Given the description of an element on the screen output the (x, y) to click on. 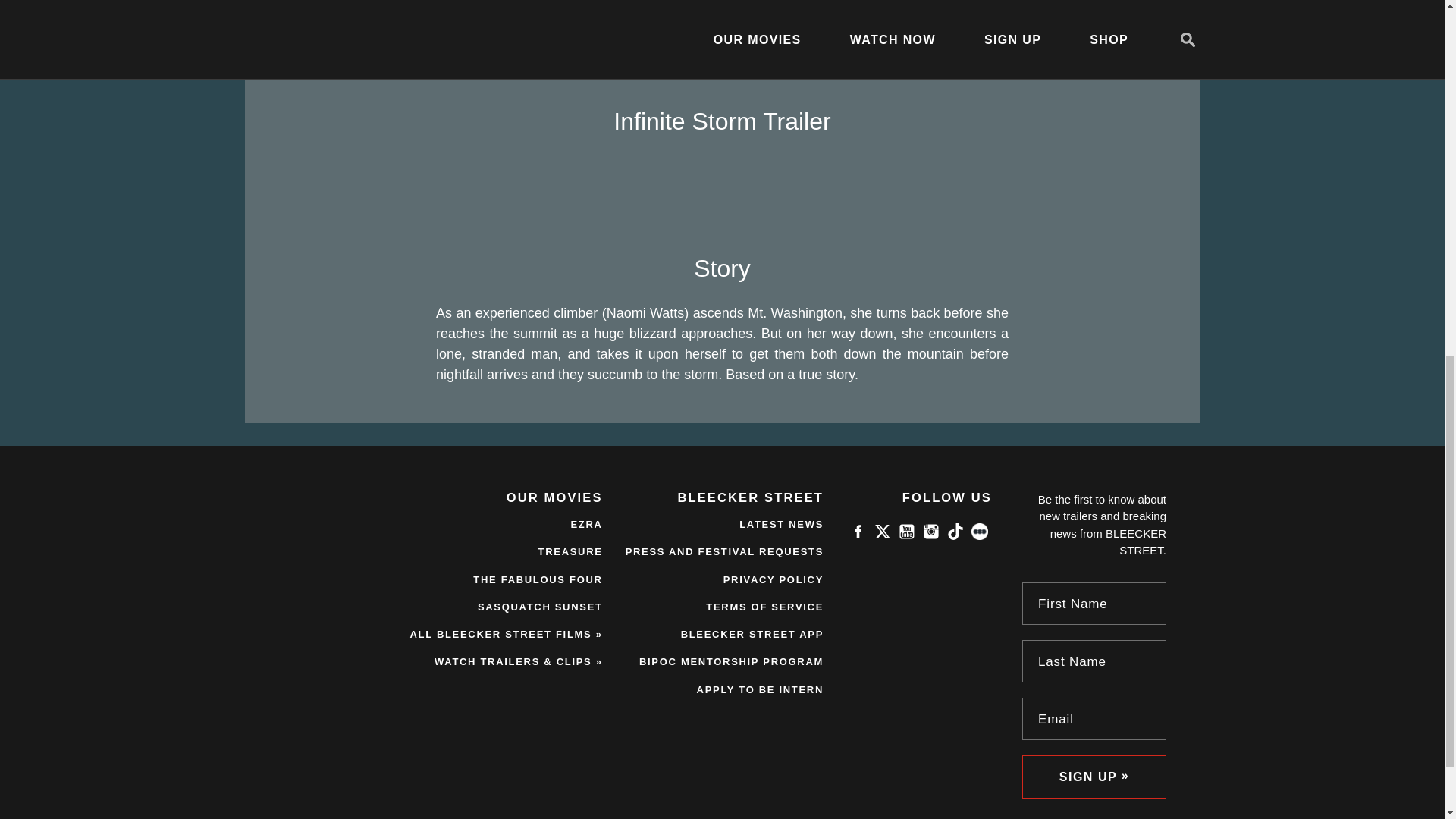
THE FABULOUS FOUR (537, 579)
EZRA (586, 523)
TREASURE (570, 551)
SASQUATCH SUNSET (539, 606)
LATEST NEWS (781, 523)
PRIVACY POLICY (773, 579)
PRESS AND FESTIVAL REQUESTS (725, 551)
